Given the description of an element on the screen output the (x, y) to click on. 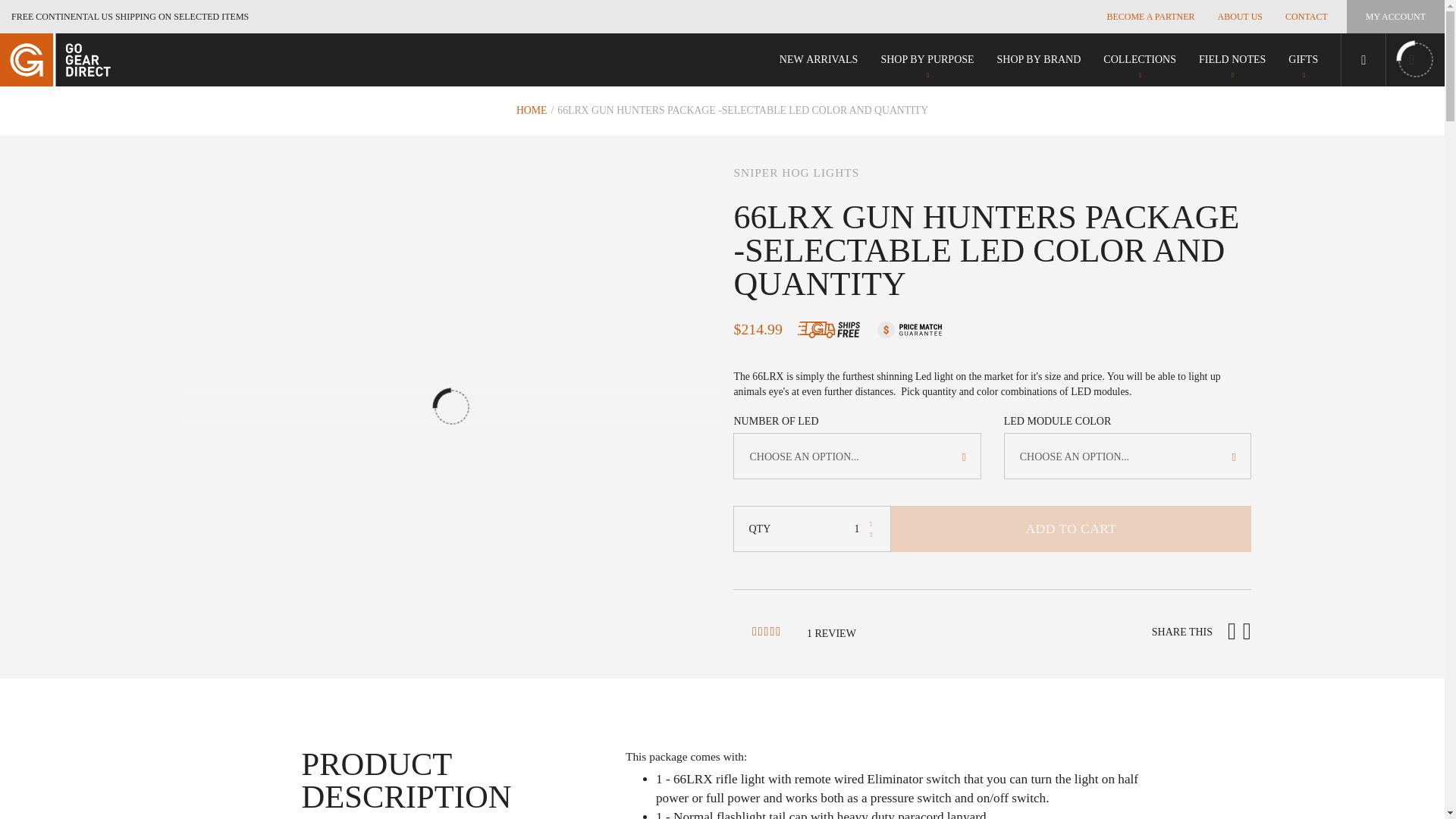
ABOUT US (1240, 16)
CONTACT (1306, 16)
Go to Home Page (531, 110)
Qty (820, 529)
BECOME A PARTNER (1149, 16)
COLLECTIONS (1139, 59)
Add to Cart (1070, 529)
1 (1039, 59)
Go Gear Direct (1231, 59)
Sniper Hog Lights (927, 59)
